Given the description of an element on the screen output the (x, y) to click on. 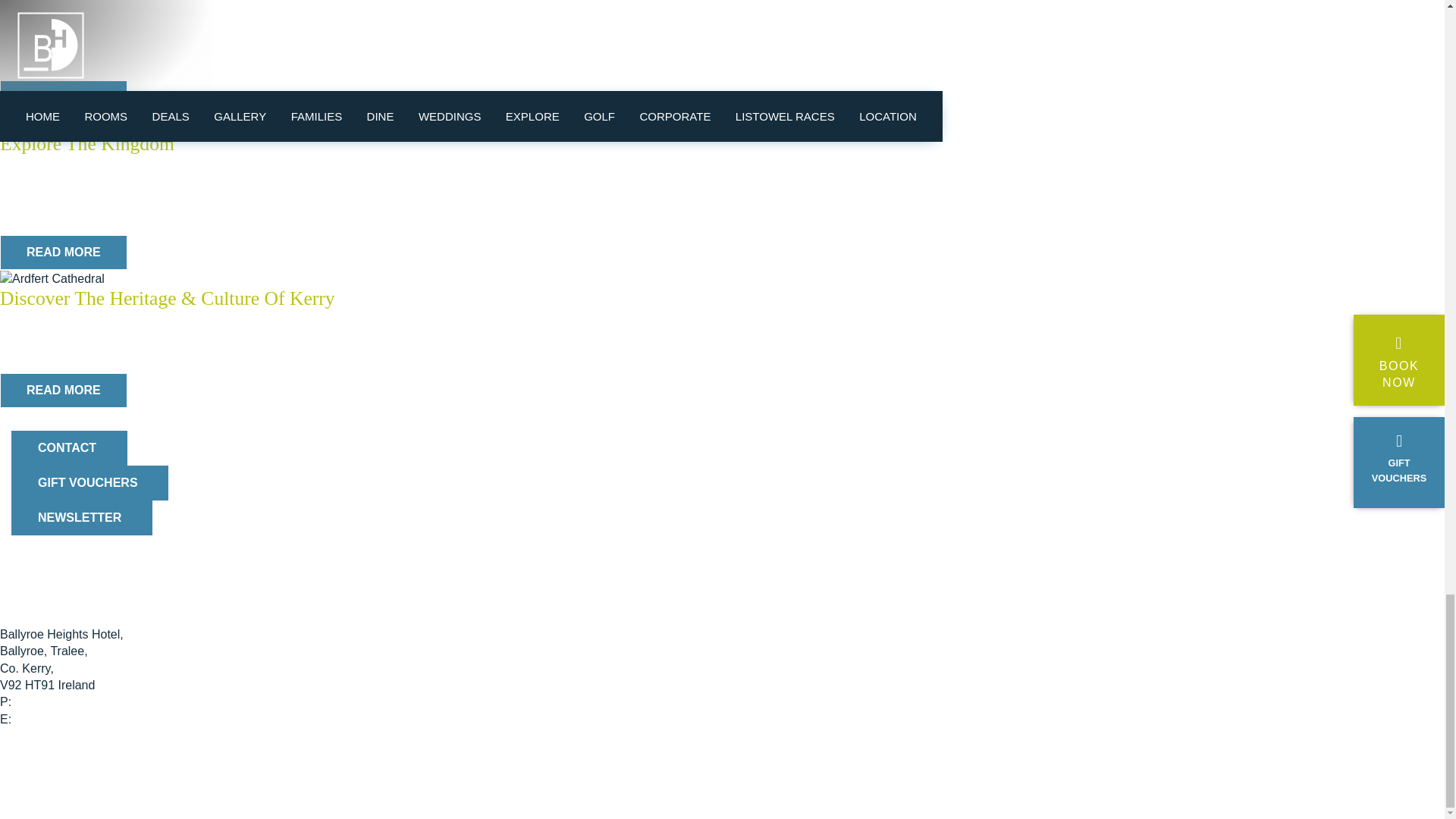
Contact Avvio (47, 735)
Contact Us by phone (71, 701)
Contact Us by email (65, 718)
